Given the description of an element on the screen output the (x, y) to click on. 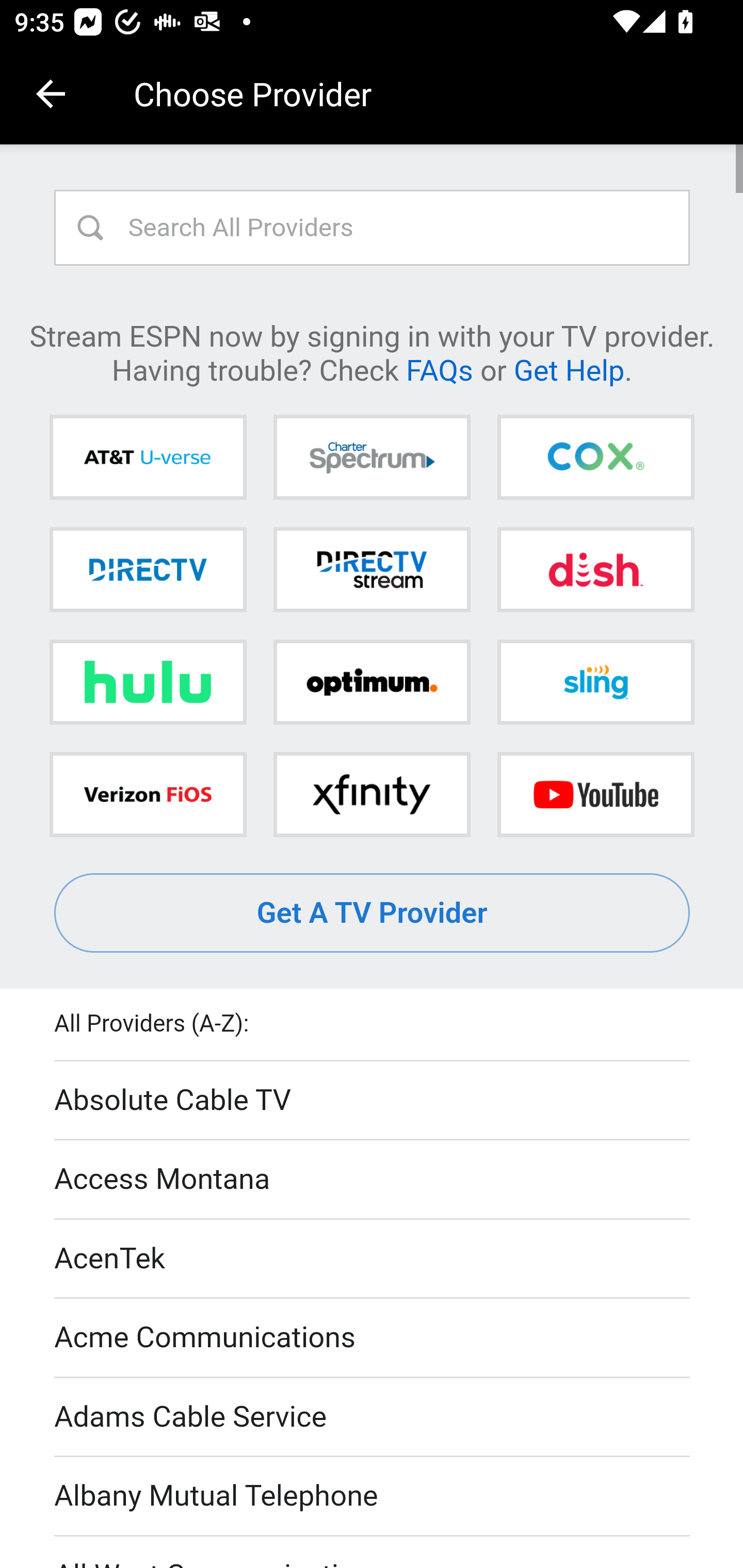
Navigate up (50, 93)
FAQs (438, 369)
Get Help (569, 369)
AT&T U-verse (147, 457)
Charter Spectrum (371, 457)
Cox (595, 457)
DIRECTV (147, 568)
DIRECTV STREAM (371, 568)
DISH (595, 568)
Hulu (147, 681)
Optimum (371, 681)
Sling TV (595, 681)
Verizon FiOS (147, 793)
Xfinity (371, 793)
YouTube TV (595, 793)
Get A TV Provider (372, 912)
Absolute Cable TV (372, 1100)
Access Montana (372, 1178)
AcenTek (372, 1258)
Acme Communications (372, 1338)
Adams Cable Service (372, 1417)
Albany Mutual Telephone (372, 1497)
